Given the description of an element on the screen output the (x, y) to click on. 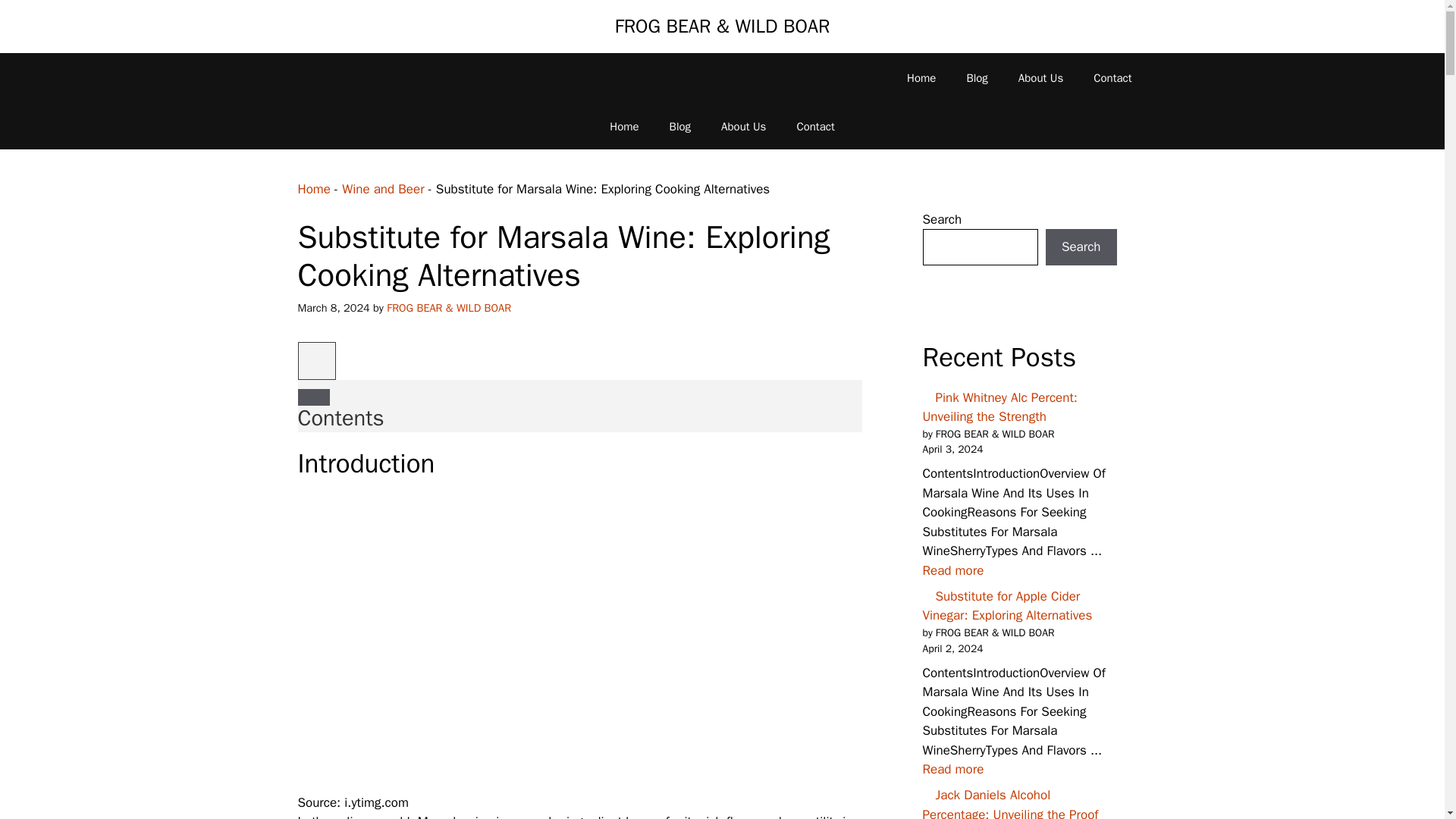
About Us (1040, 77)
Home (920, 77)
Contact (1112, 77)
About Us (743, 125)
Blog (976, 77)
Contact (814, 125)
Home (313, 188)
Pink Whitney Alc Percent: Unveiling the Strength (952, 570)
click To Maximize The Table Of Contents (315, 361)
Wine and Beer (382, 188)
